Given the description of an element on the screen output the (x, y) to click on. 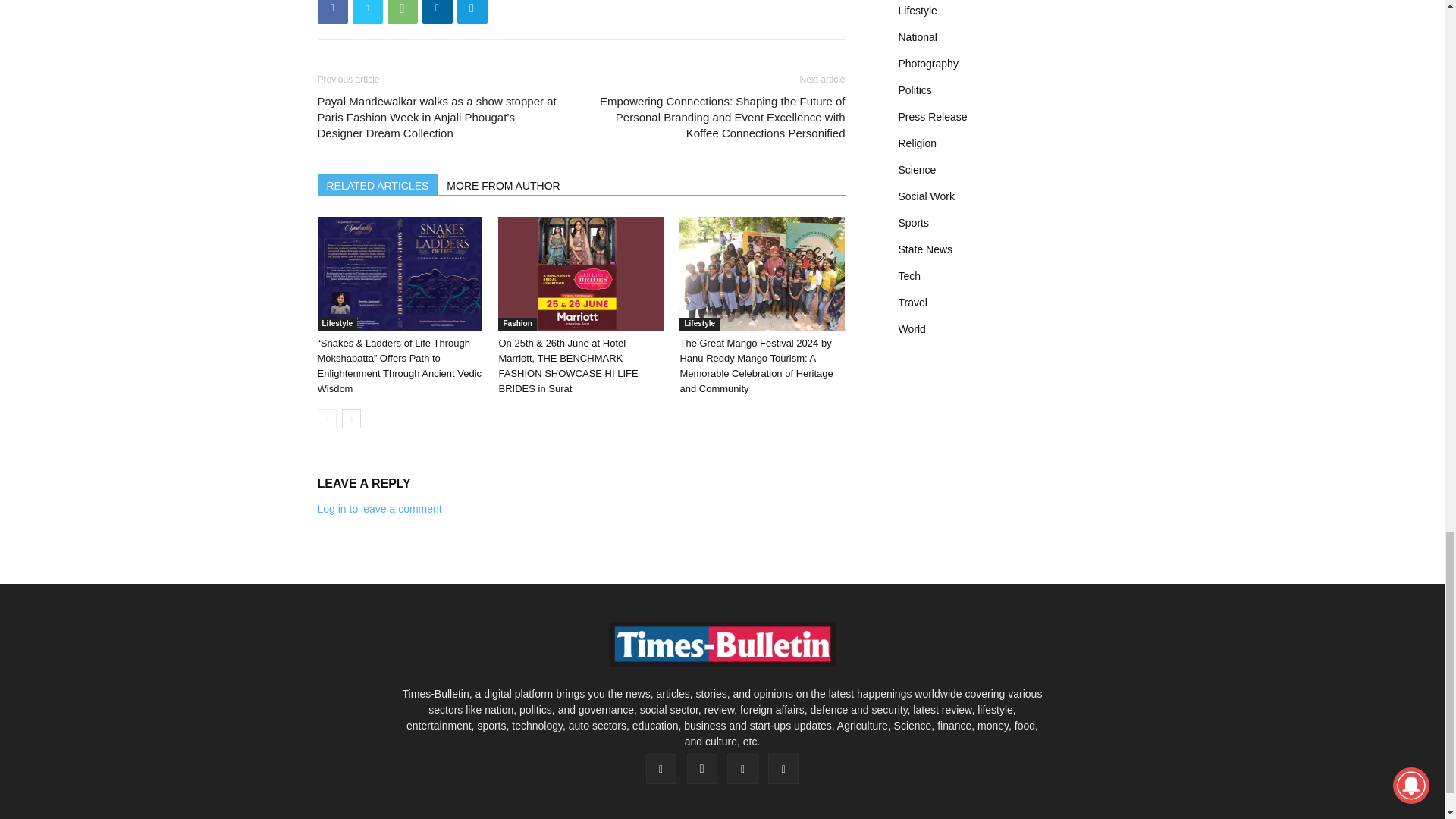
WhatsApp (401, 11)
Facebook (332, 11)
Twitter (366, 11)
